Given the description of an element on the screen output the (x, y) to click on. 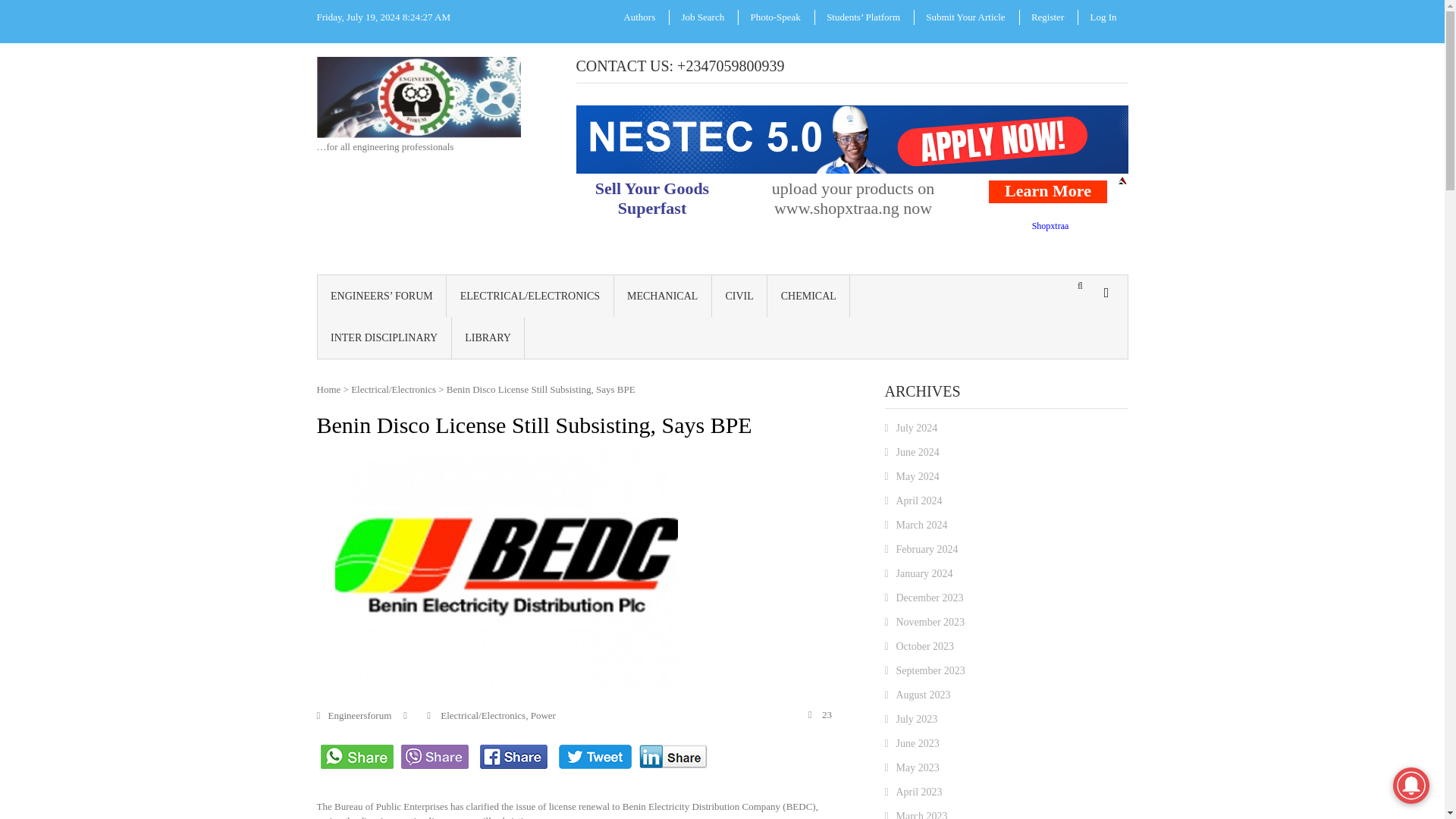
INTER DISCIPLINARY (384, 337)
CIVIL (739, 295)
Photo-Speak (774, 16)
Job Search (702, 16)
Submit Your Article (965, 16)
Log In (1102, 16)
Authors (638, 16)
MECHANICAL (662, 295)
Register (1047, 16)
CHEMICAL (808, 295)
